Given the description of an element on the screen output the (x, y) to click on. 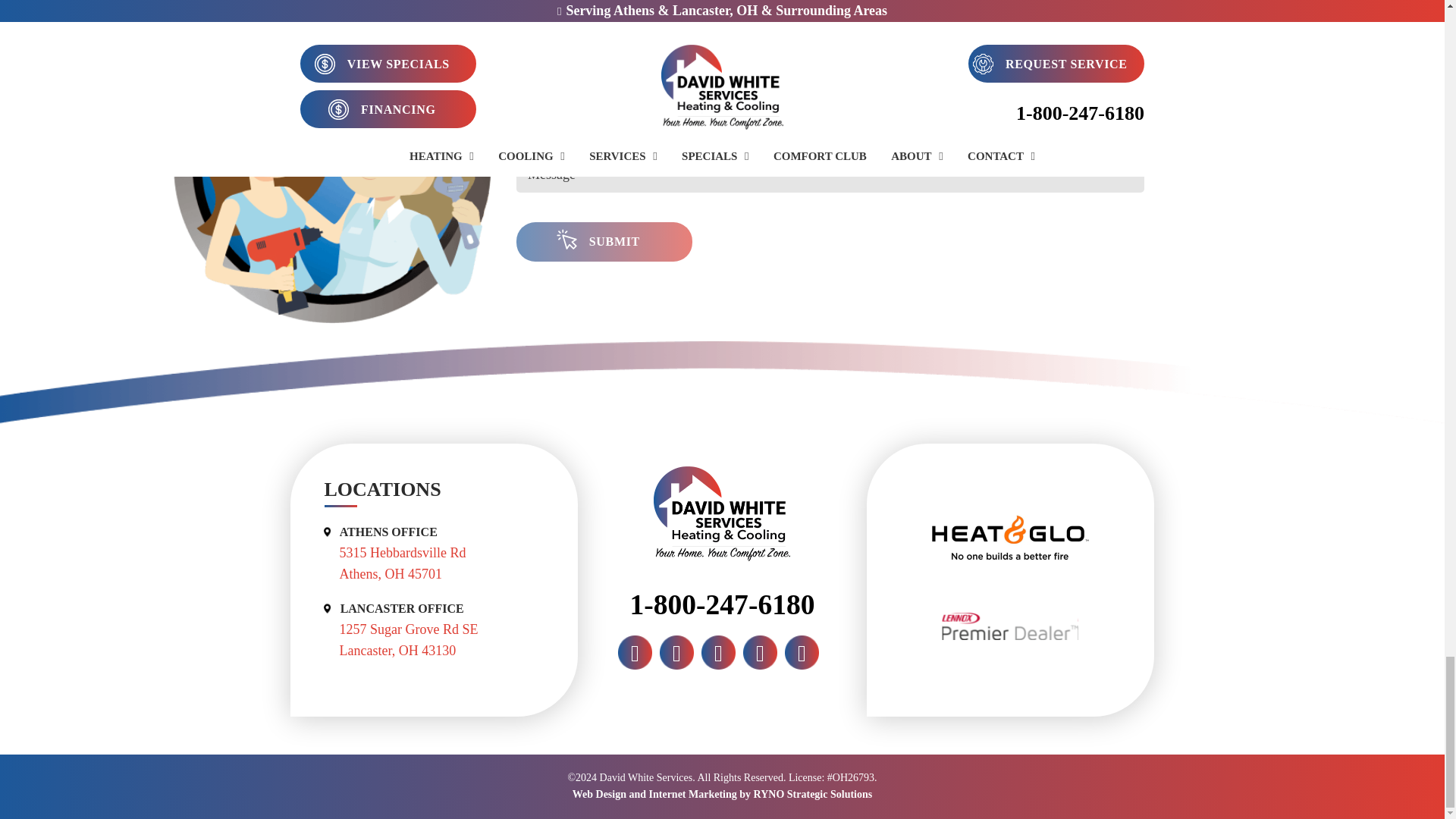
David White Services (721, 512)
